Given the description of an element on the screen output the (x, y) to click on. 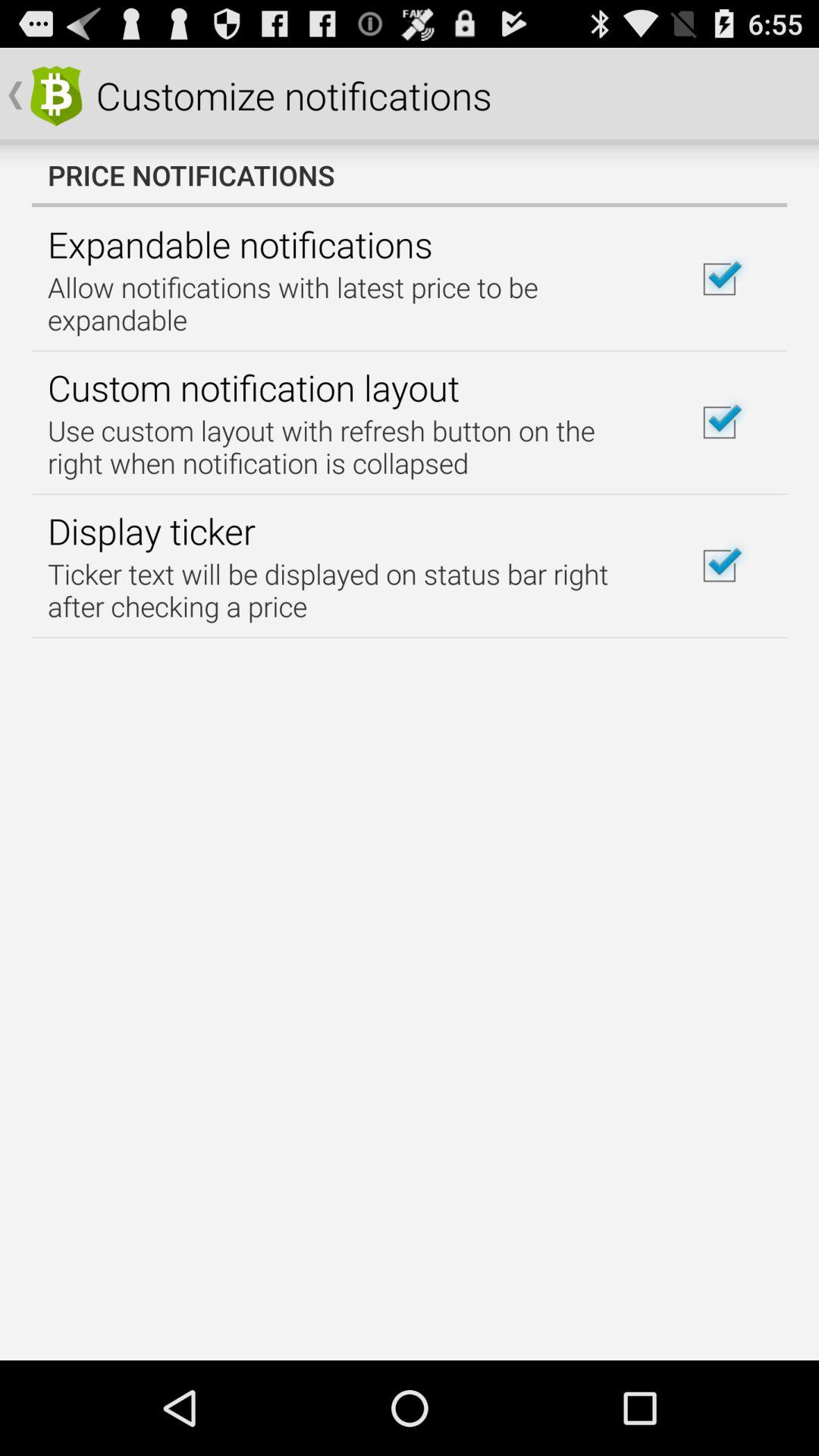
tap the icon below the display ticker item (351, 590)
